Given the description of an element on the screen output the (x, y) to click on. 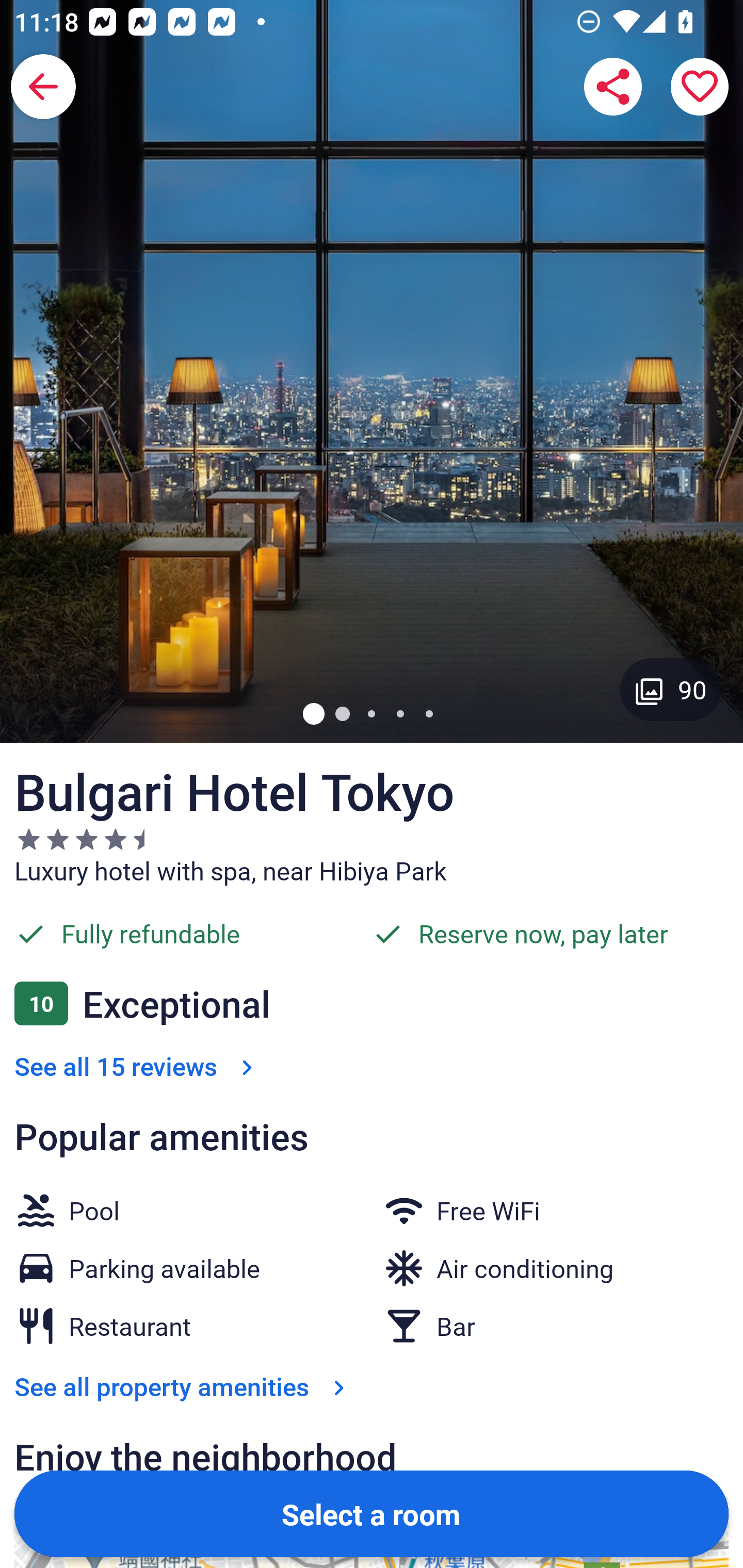
Back (43, 86)
Save property to a trip (699, 86)
Share Bulgari Hotel Tokyo (612, 87)
Gallery button with 90 images (670, 689)
See all 15 reviews See all 15 reviews Link (137, 1066)
See all property amenities (183, 1386)
Select a room Button Select a room (371, 1513)
